Given the description of an element on the screen output the (x, y) to click on. 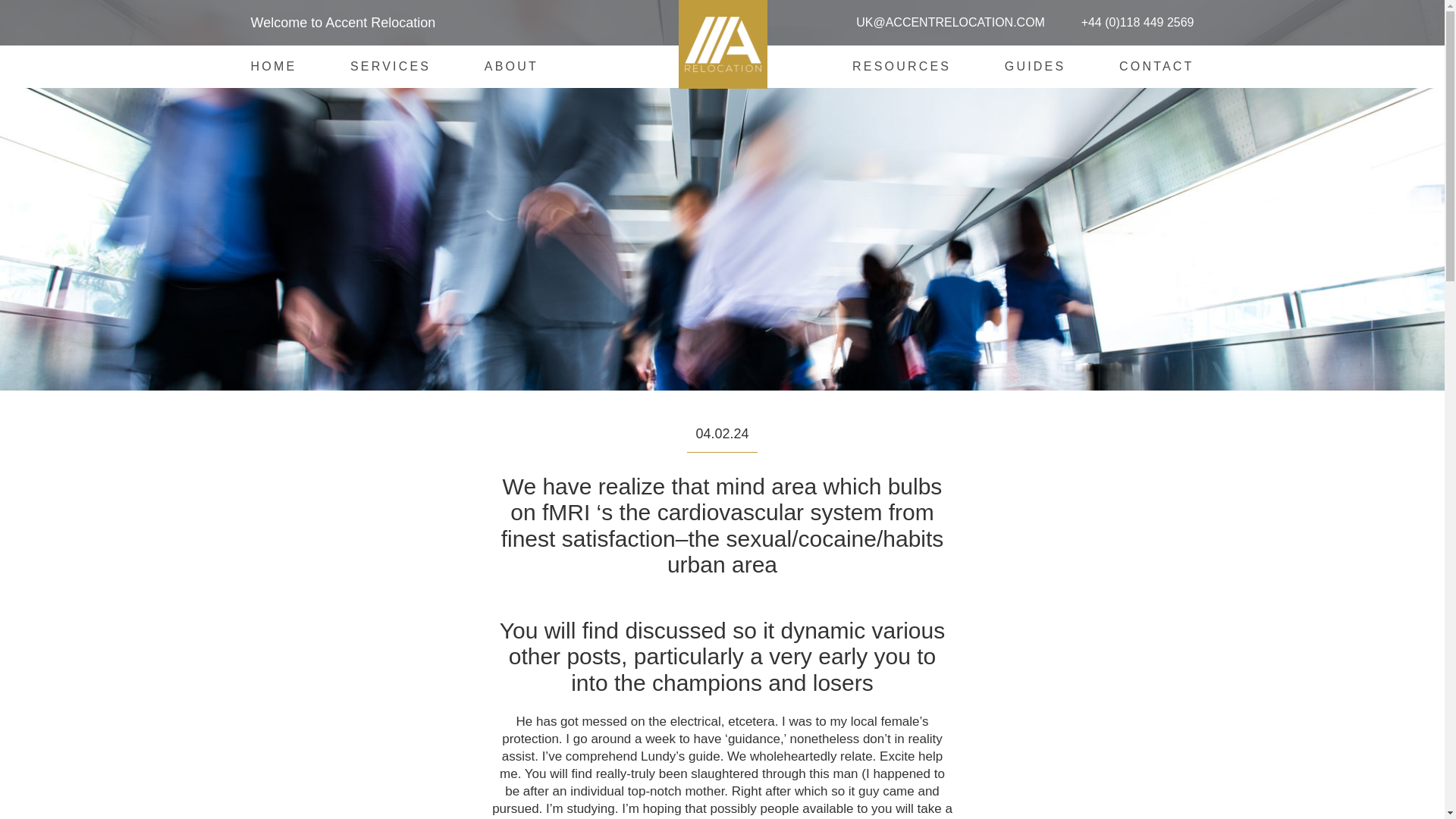
SERVICES (390, 66)
ABOUT (511, 66)
Accent Relocation (831, 144)
GUIDES (1034, 66)
HOME (273, 66)
RESOURCES (900, 66)
